Given the description of an element on the screen output the (x, y) to click on. 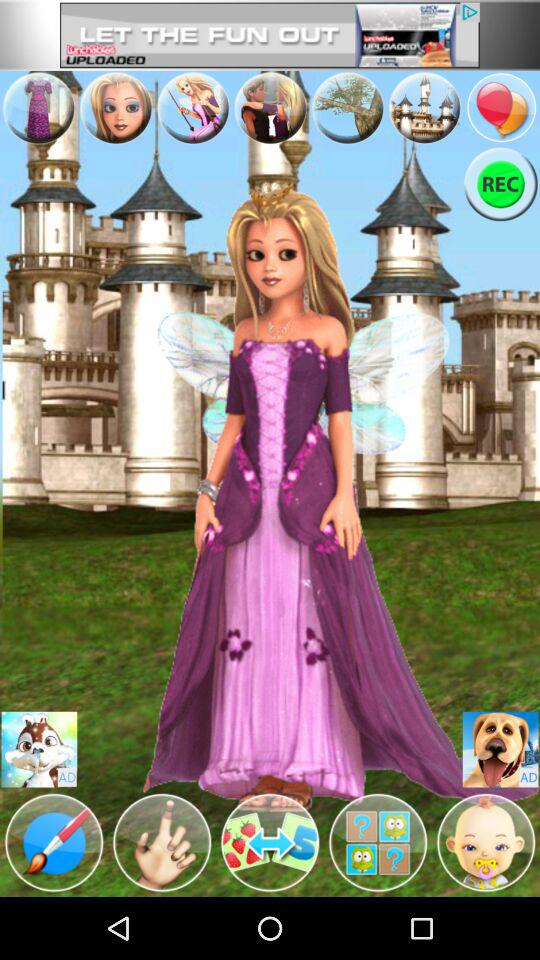
advertisement (270, 107)
